Given the description of an element on the screen output the (x, y) to click on. 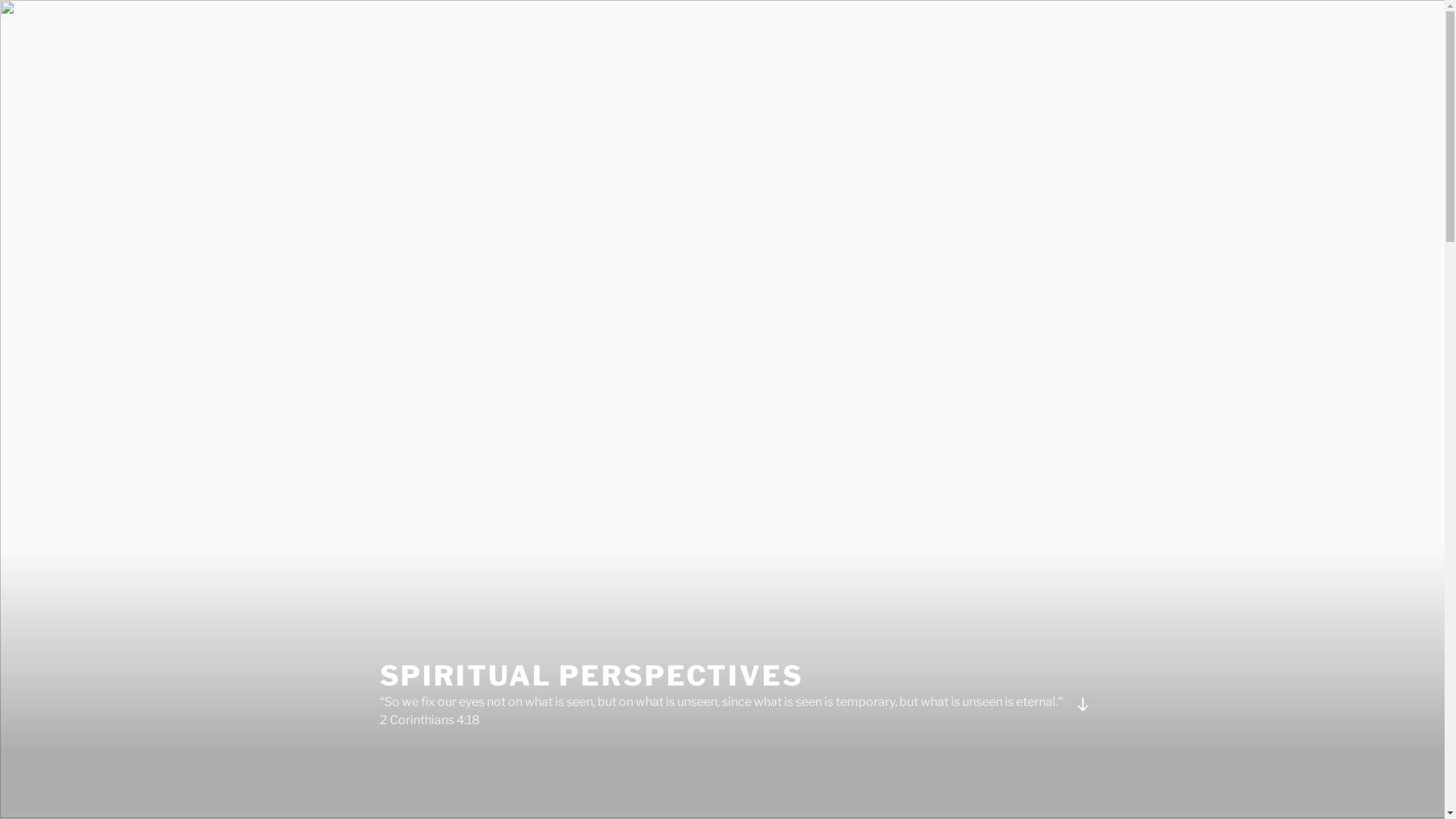
Scroll down to content Element type: text (1082, 704)
SPIRITUAL PERSPECTIVES Element type: text (591, 675)
